Given the description of an element on the screen output the (x, y) to click on. 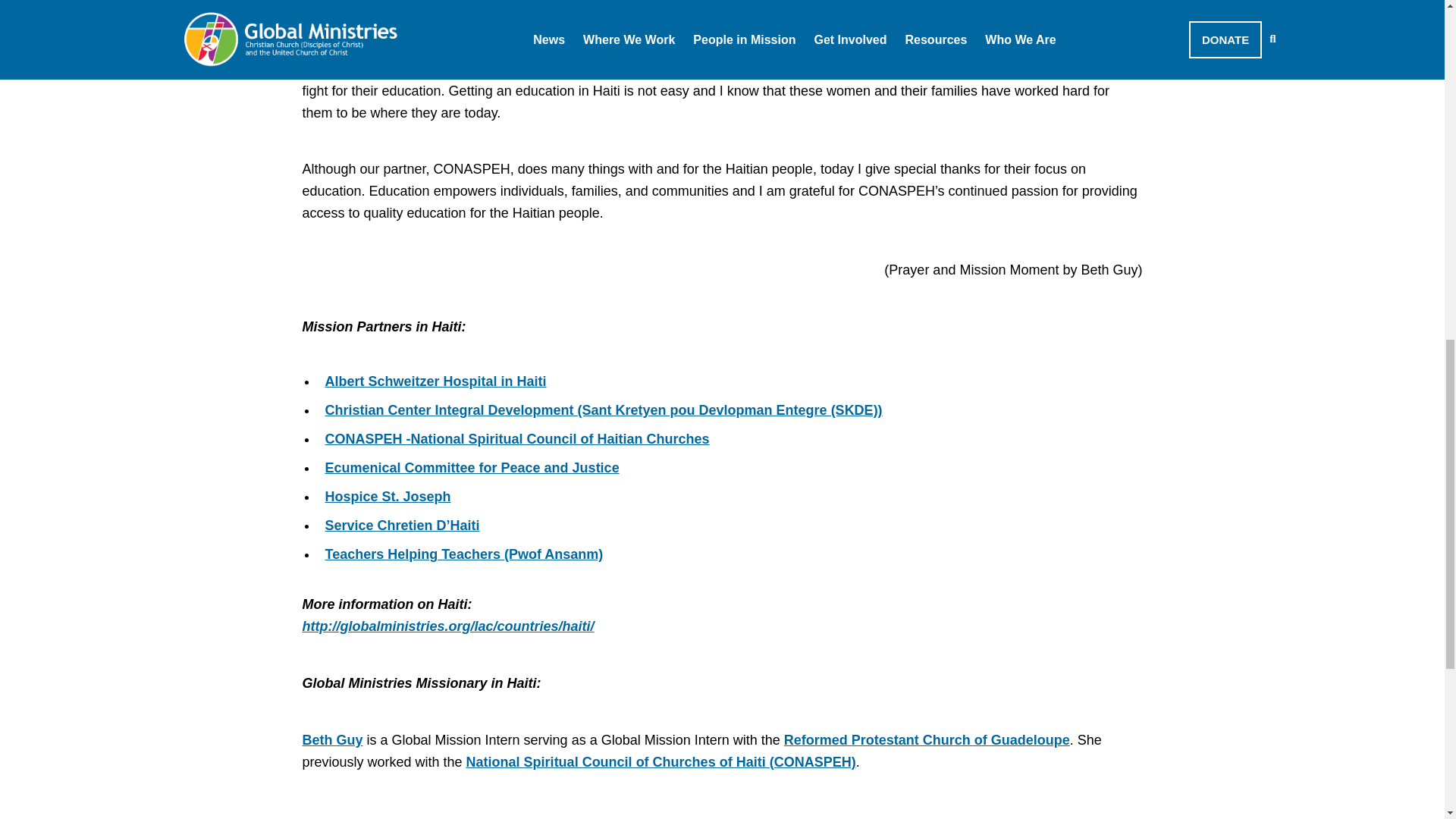
Guy, Bethany (331, 739)
